Given the description of an element on the screen output the (x, y) to click on. 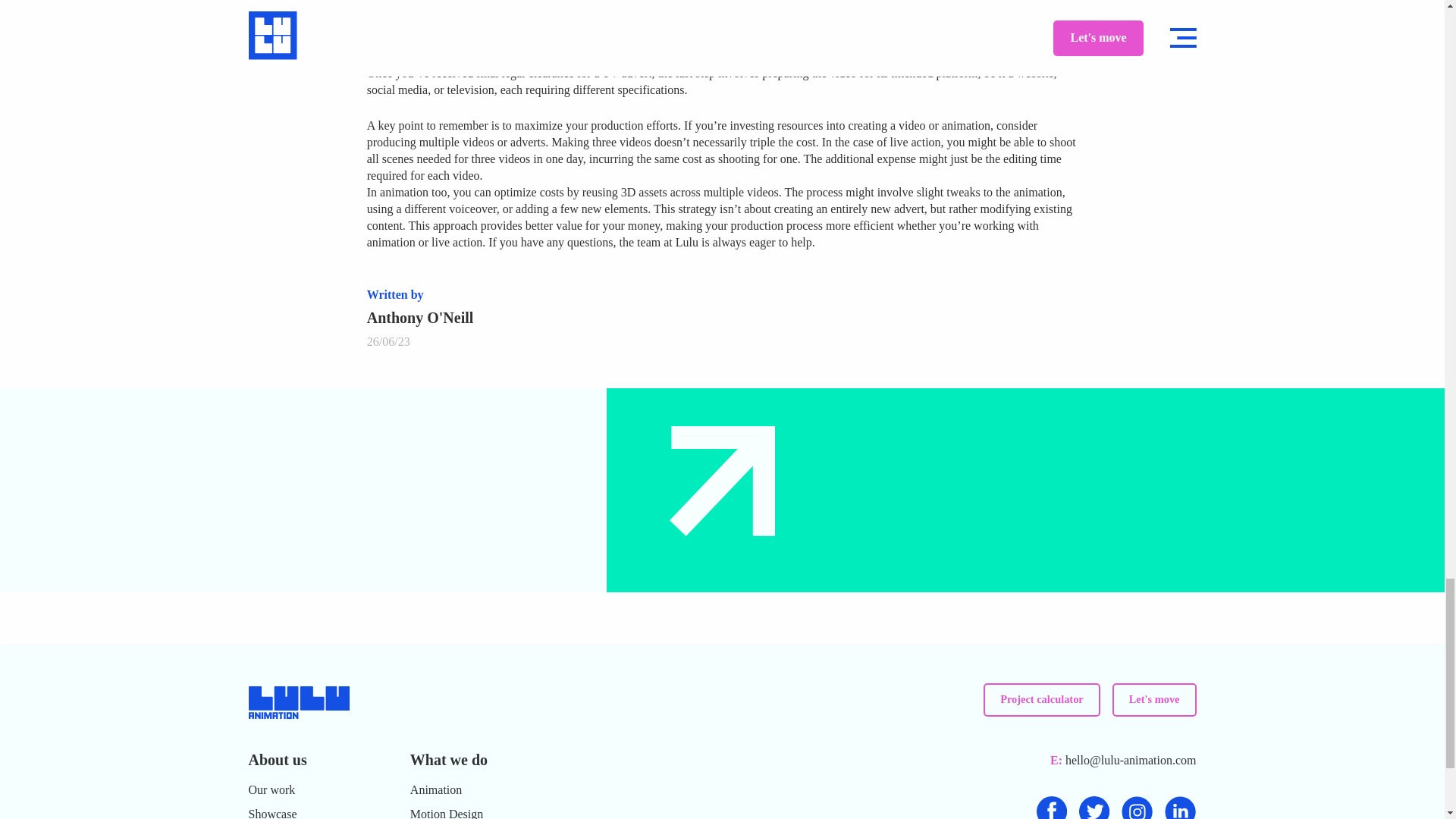
Canny Creative Logo and Home Link (298, 715)
Motion Design (446, 810)
Project calculator (1042, 699)
Our work (271, 790)
Showcase (272, 810)
Let's move (1154, 699)
Anthony O'Neill (420, 317)
Animation (435, 790)
